Given the description of an element on the screen output the (x, y) to click on. 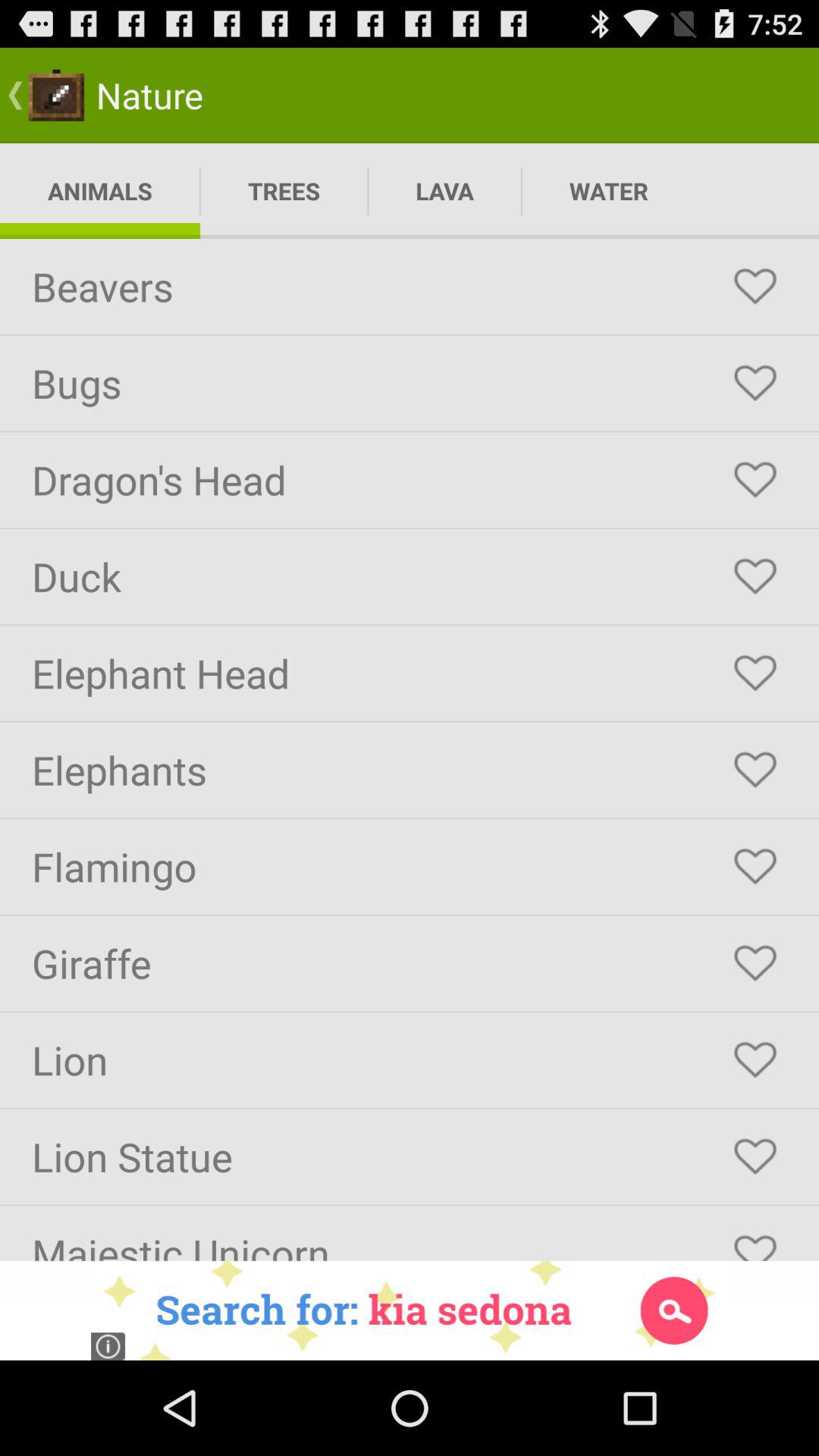
search (409, 1310)
